Given the description of an element on the screen output the (x, y) to click on. 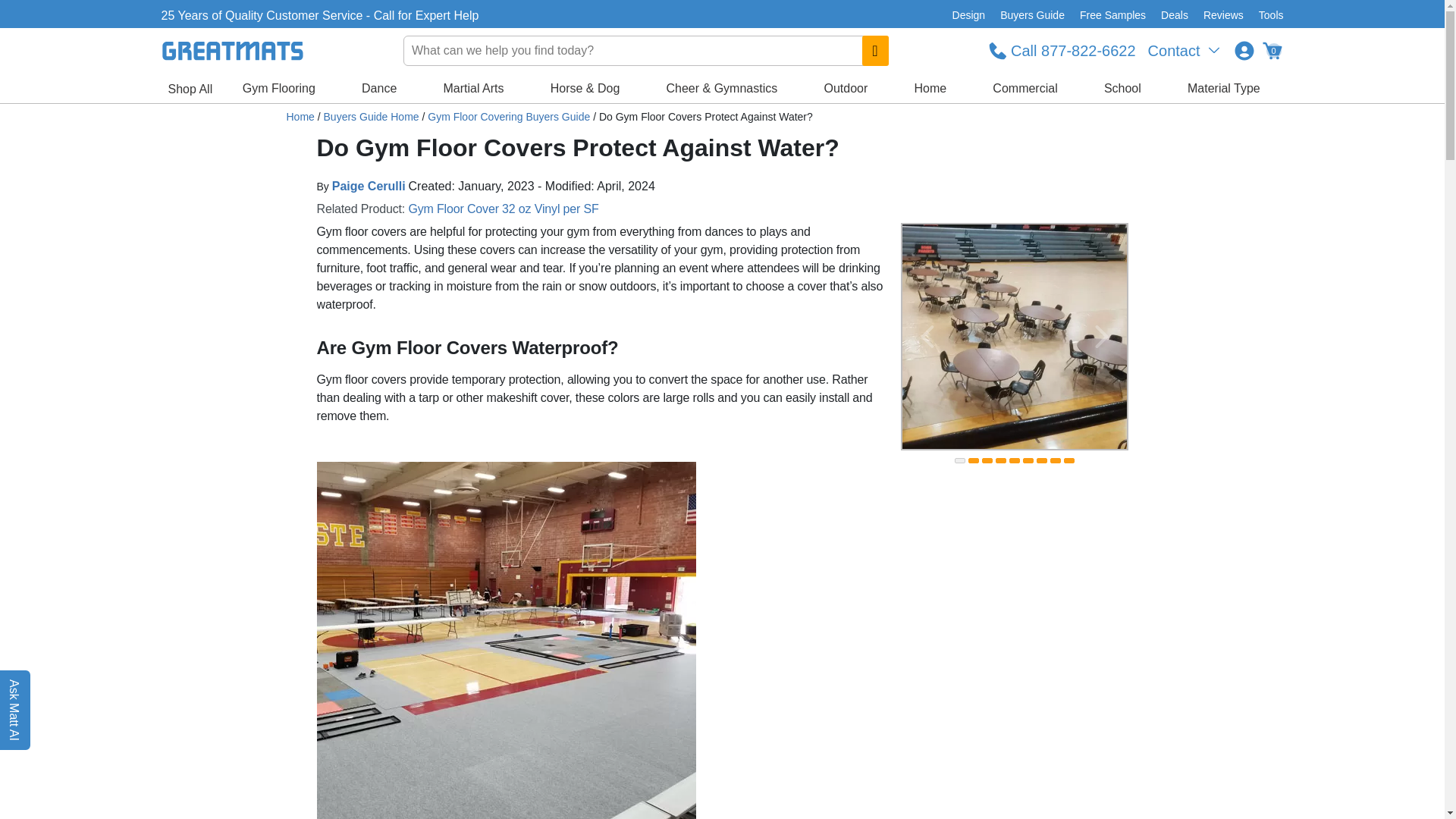
Buyers Guide (1031, 15)
Shop All (189, 89)
Tools (1267, 15)
0 (1271, 50)
Contact (1184, 50)
Design (968, 15)
Free Samples (1112, 15)
Deals (1174, 15)
Greatmats (300, 116)
Reviews (1222, 15)
